Given the description of an element on the screen output the (x, y) to click on. 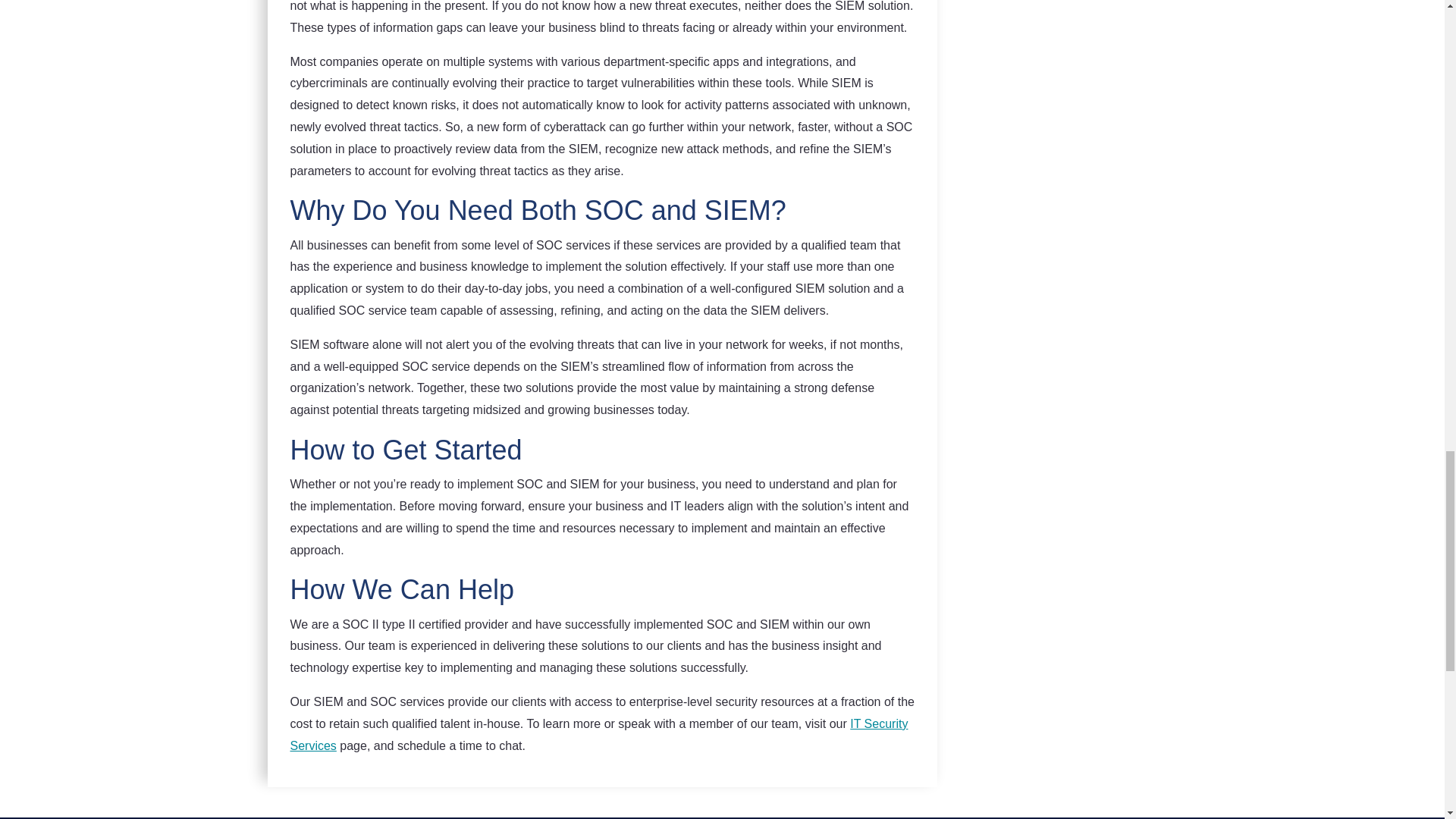
IT Security Services (598, 734)
